Given the description of an element on the screen output the (x, y) to click on. 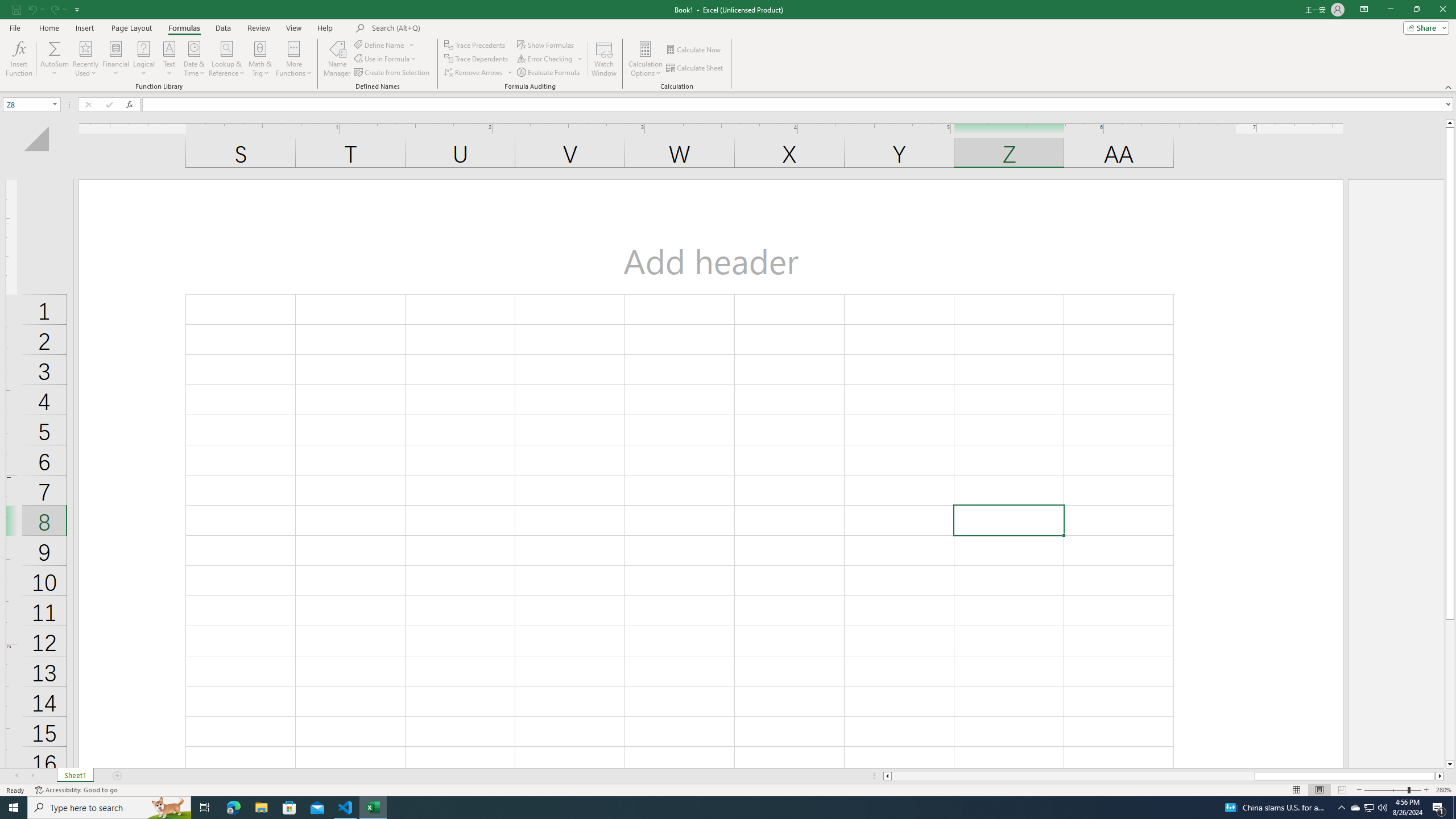
Define Name... (379, 44)
